Given the description of an element on the screen output the (x, y) to click on. 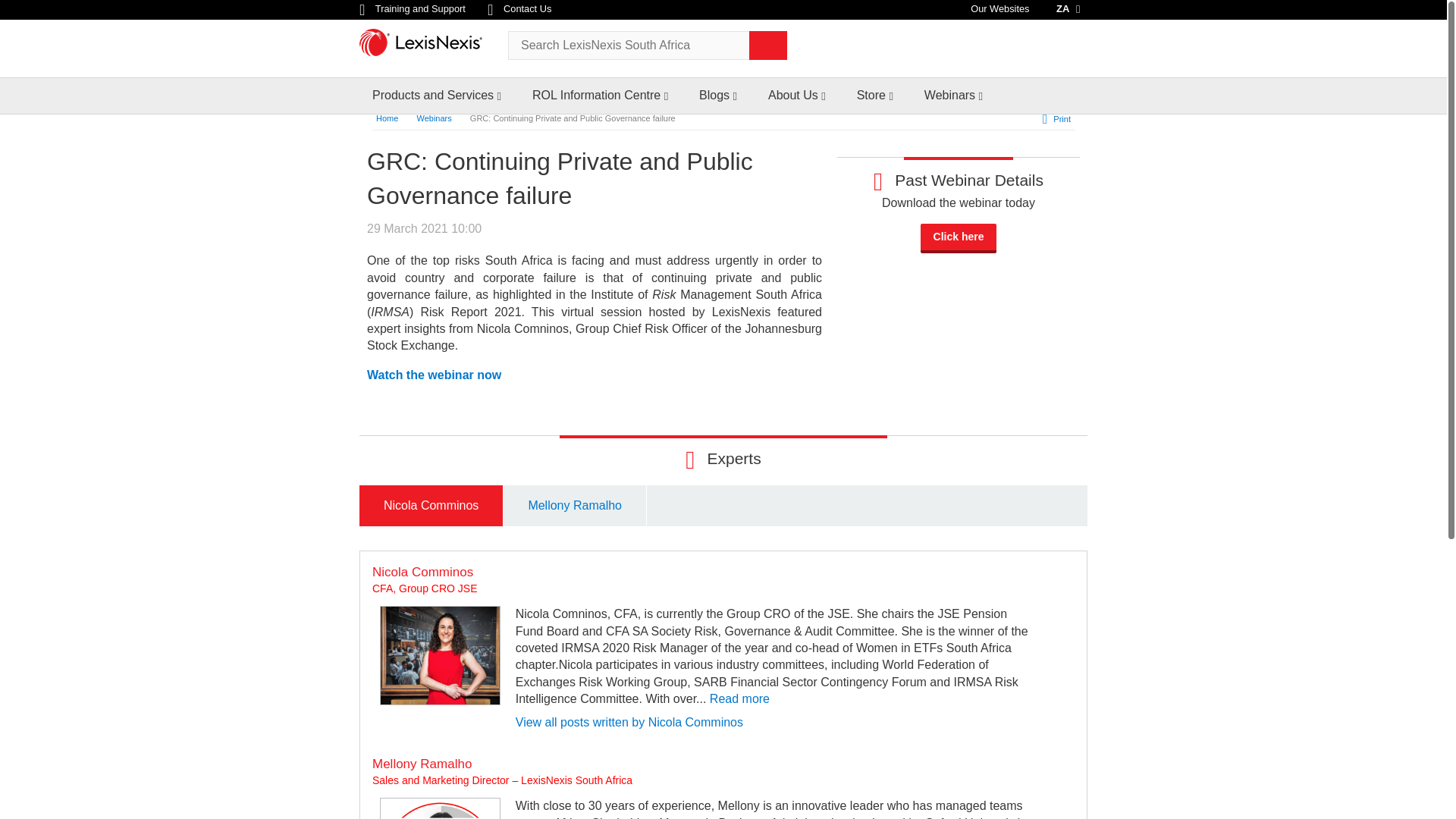
Nicola Comminos (439, 655)
Mellony Ramalho (439, 808)
Training and Support (413, 8)
Search (768, 45)
Search (768, 45)
Lexis Nexis (427, 46)
Contact Us (519, 8)
